Given the description of an element on the screen output the (x, y) to click on. 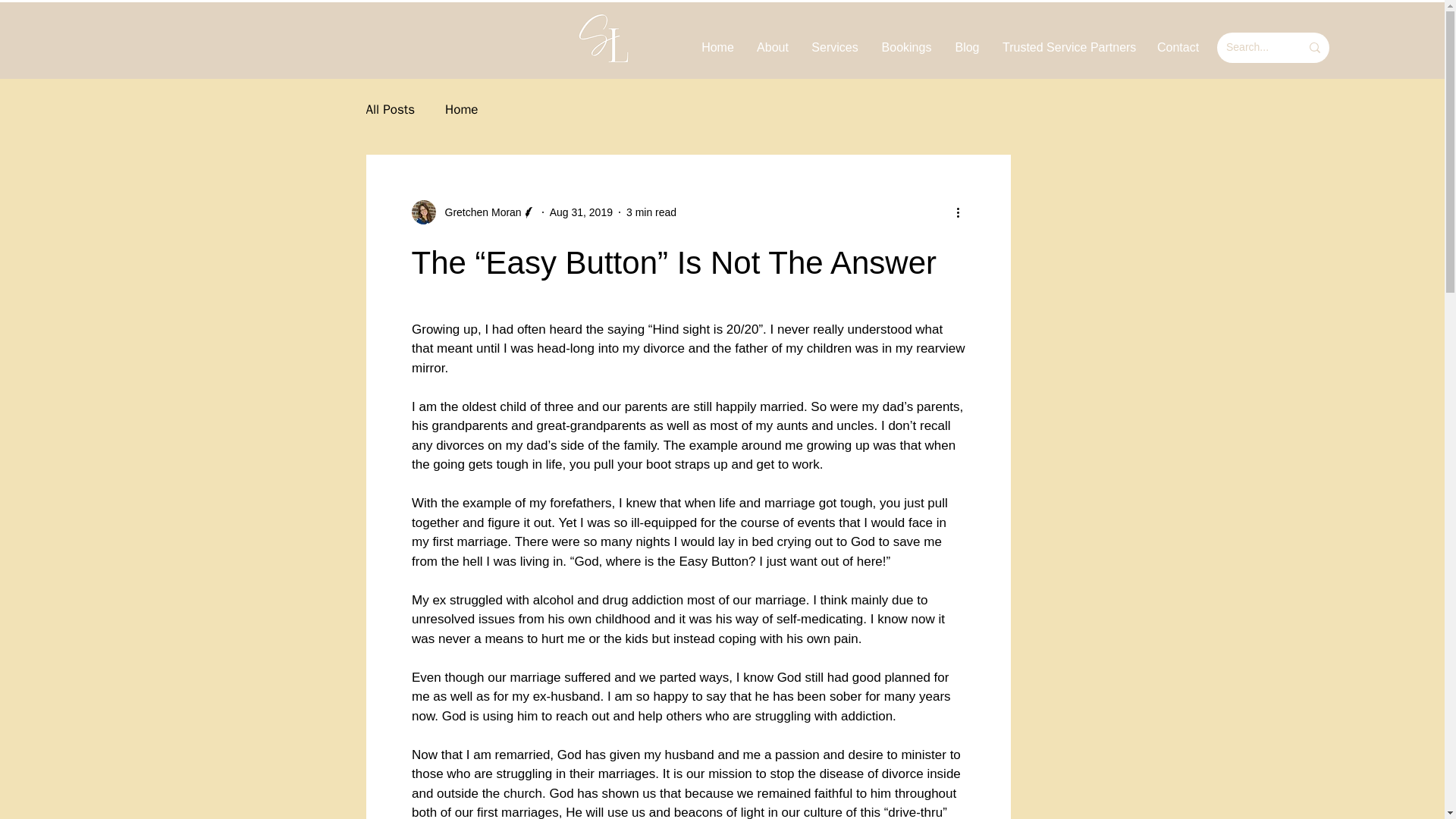
Gretchen Moran (472, 211)
Bookings (906, 47)
Trusted Service Partners (1068, 47)
All Posts (389, 108)
3 min read (651, 212)
Aug 31, 2019 (581, 212)
About (772, 47)
Gretchen Moran (478, 212)
Home (461, 108)
Services (834, 47)
Home (717, 47)
Contact (1177, 47)
Blog (967, 47)
